Given the description of an element on the screen output the (x, y) to click on. 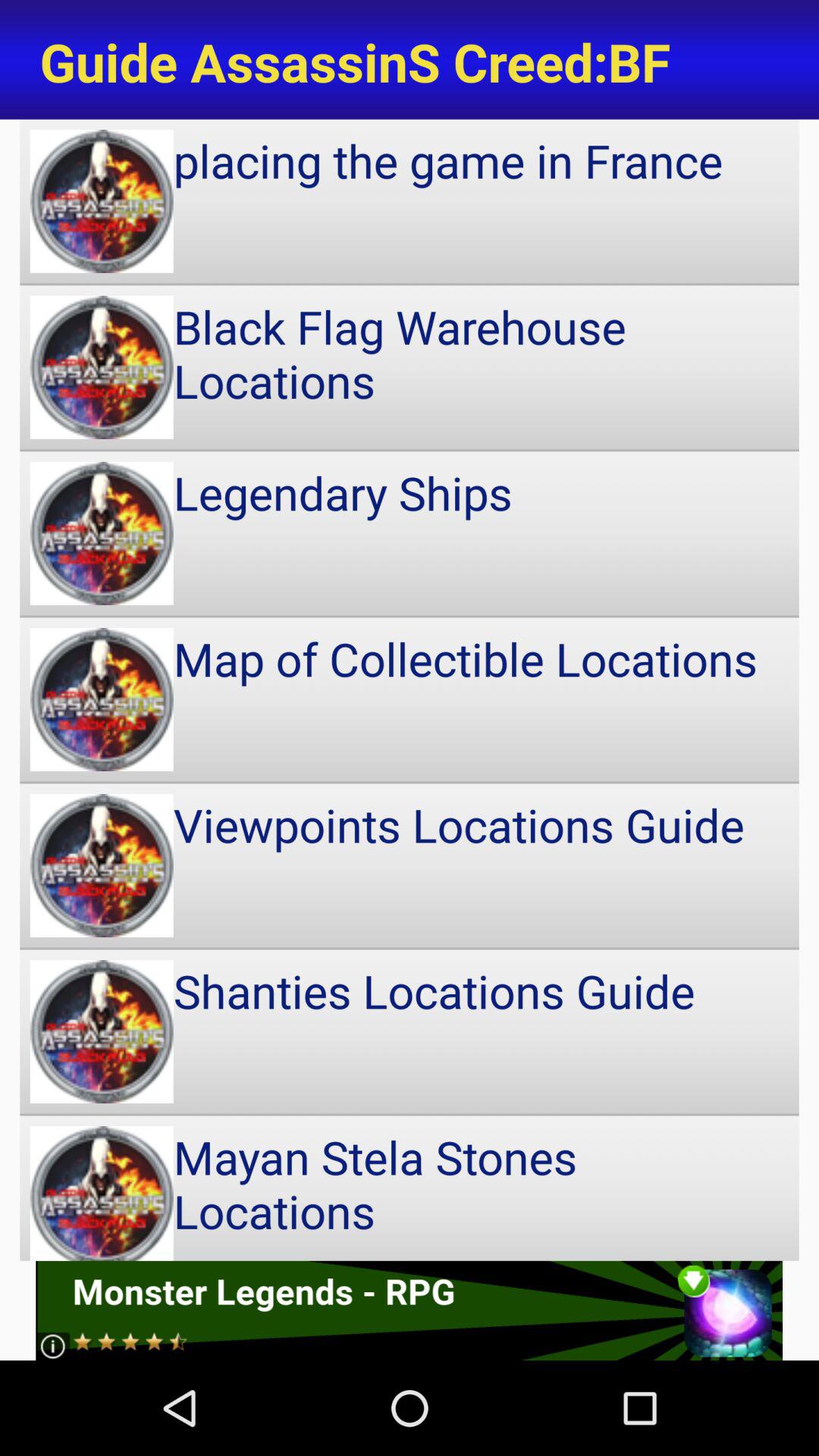
turn on black flag warehouse item (409, 367)
